Given the description of an element on the screen output the (x, y) to click on. 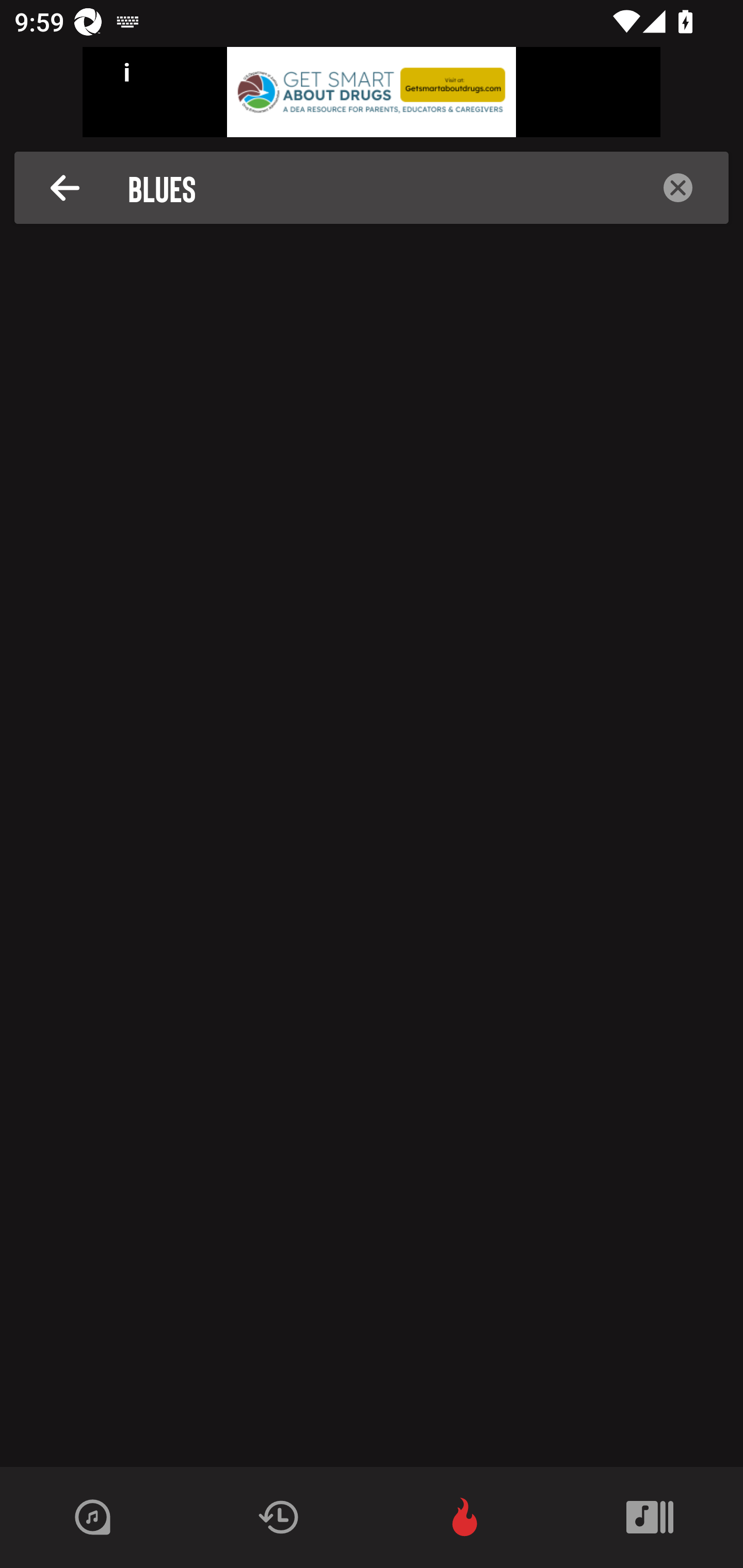
Blues (377, 188)
Description (64, 188)
Description (677, 188)
